Given the description of an element on the screen output the (x, y) to click on. 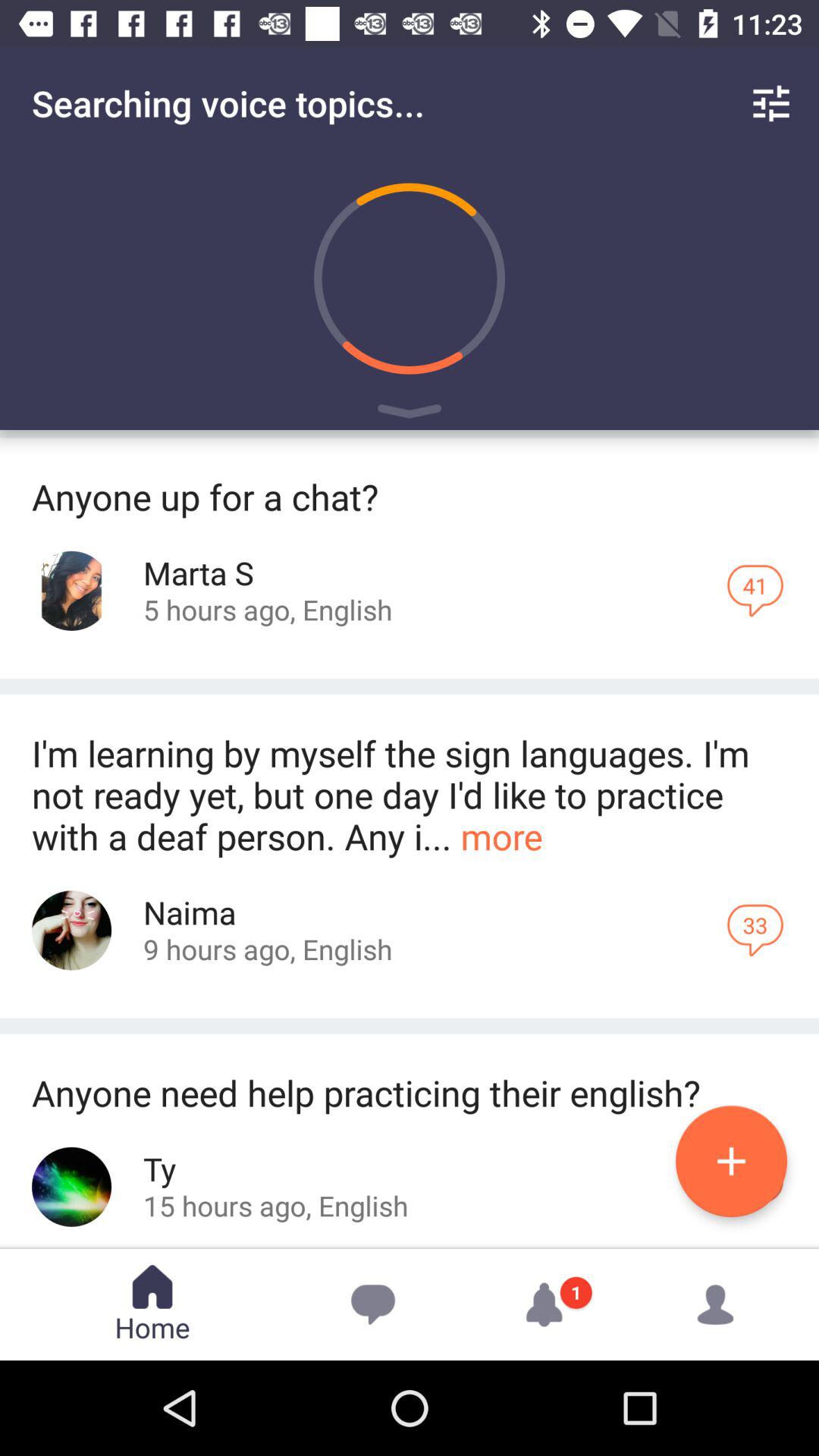
minimize button (409, 413)
